Given the description of an element on the screen output the (x, y) to click on. 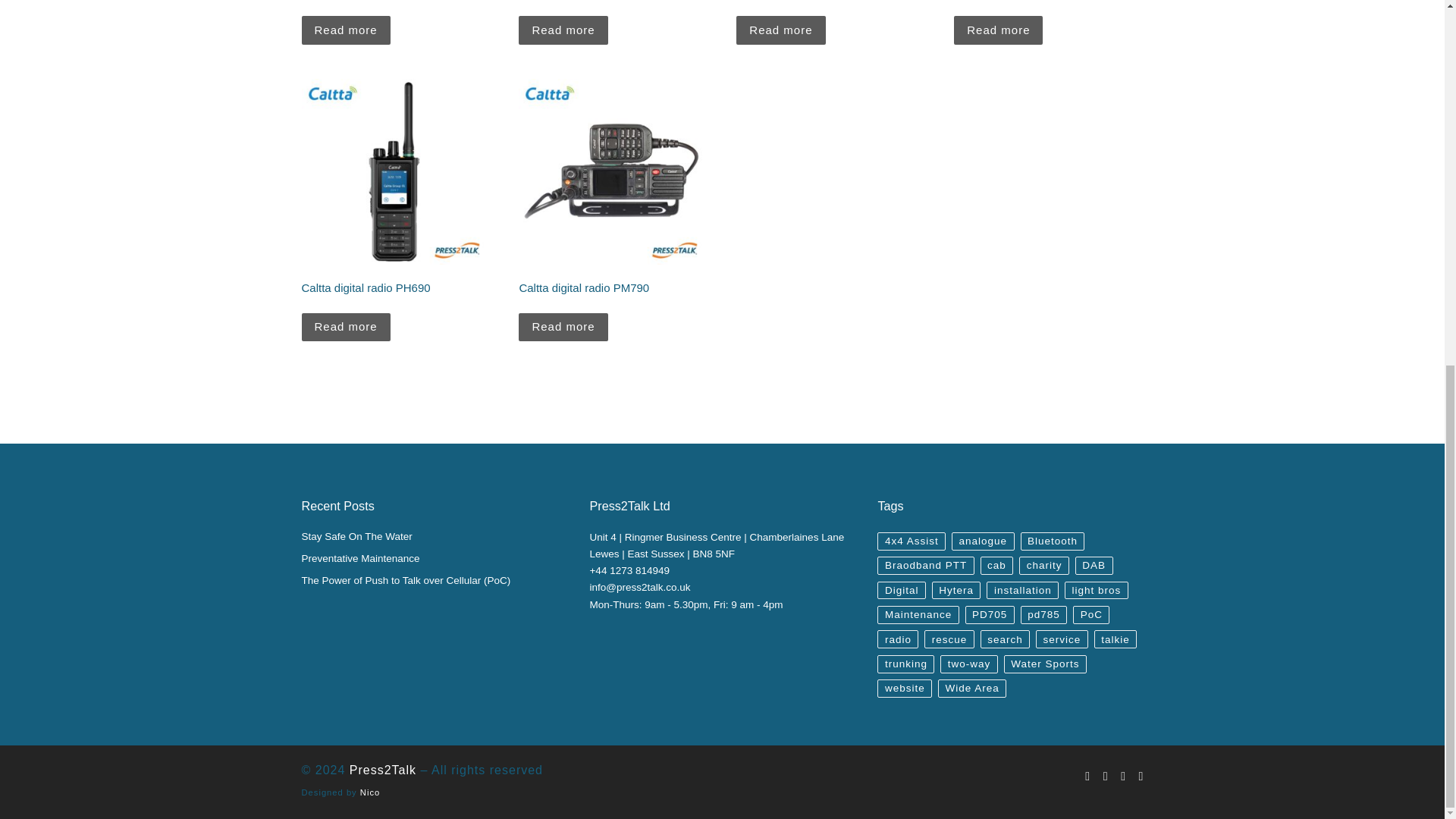
Nico (369, 791)
Press2Talk (382, 769)
